Given the description of an element on the screen output the (x, y) to click on. 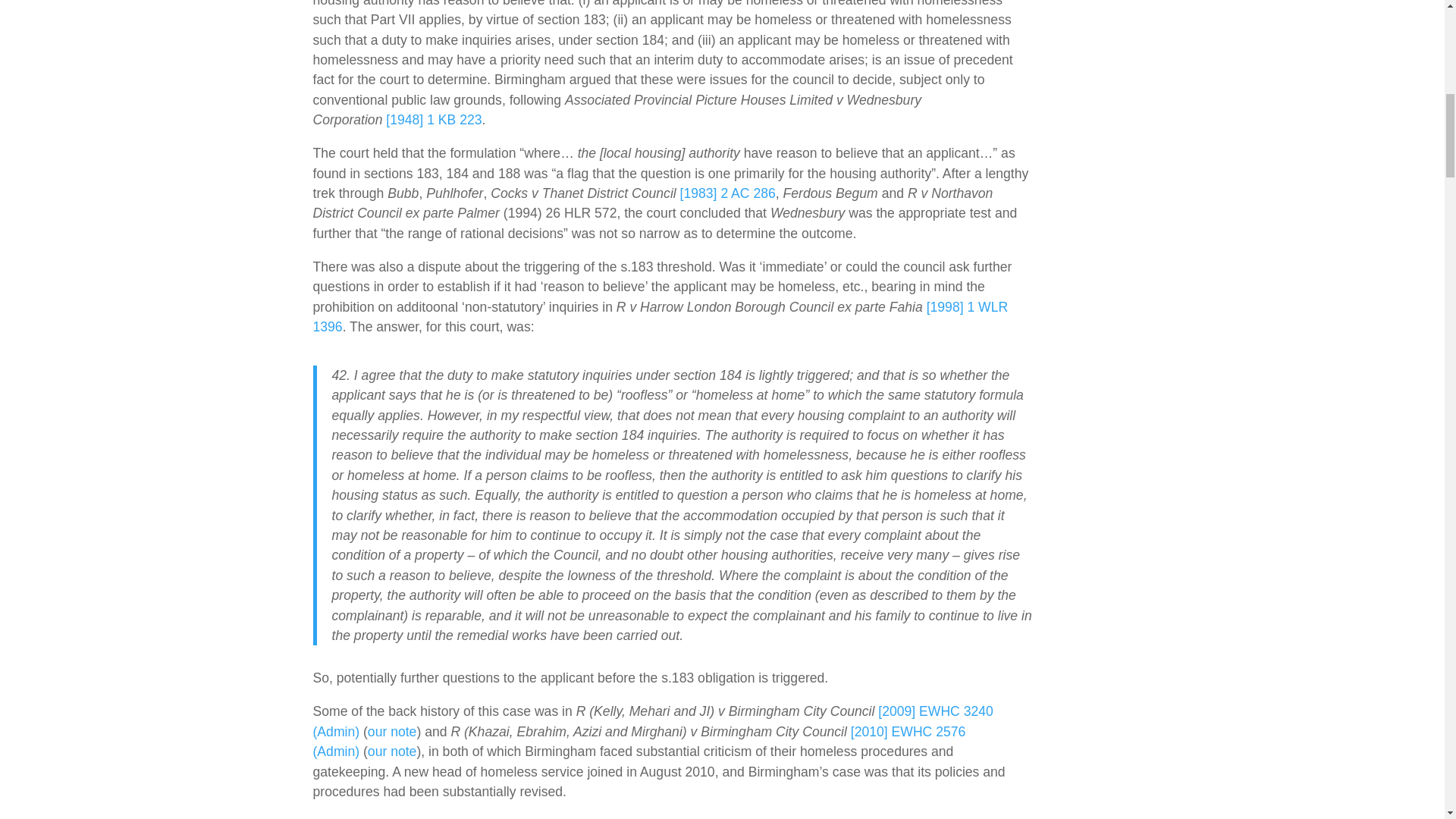
Link to BAILII version (639, 741)
Link to BAILII version (660, 316)
Link to BAILII version (652, 720)
Link to BAILII version (433, 119)
Link to BAILII version (727, 192)
